Given the description of an element on the screen output the (x, y) to click on. 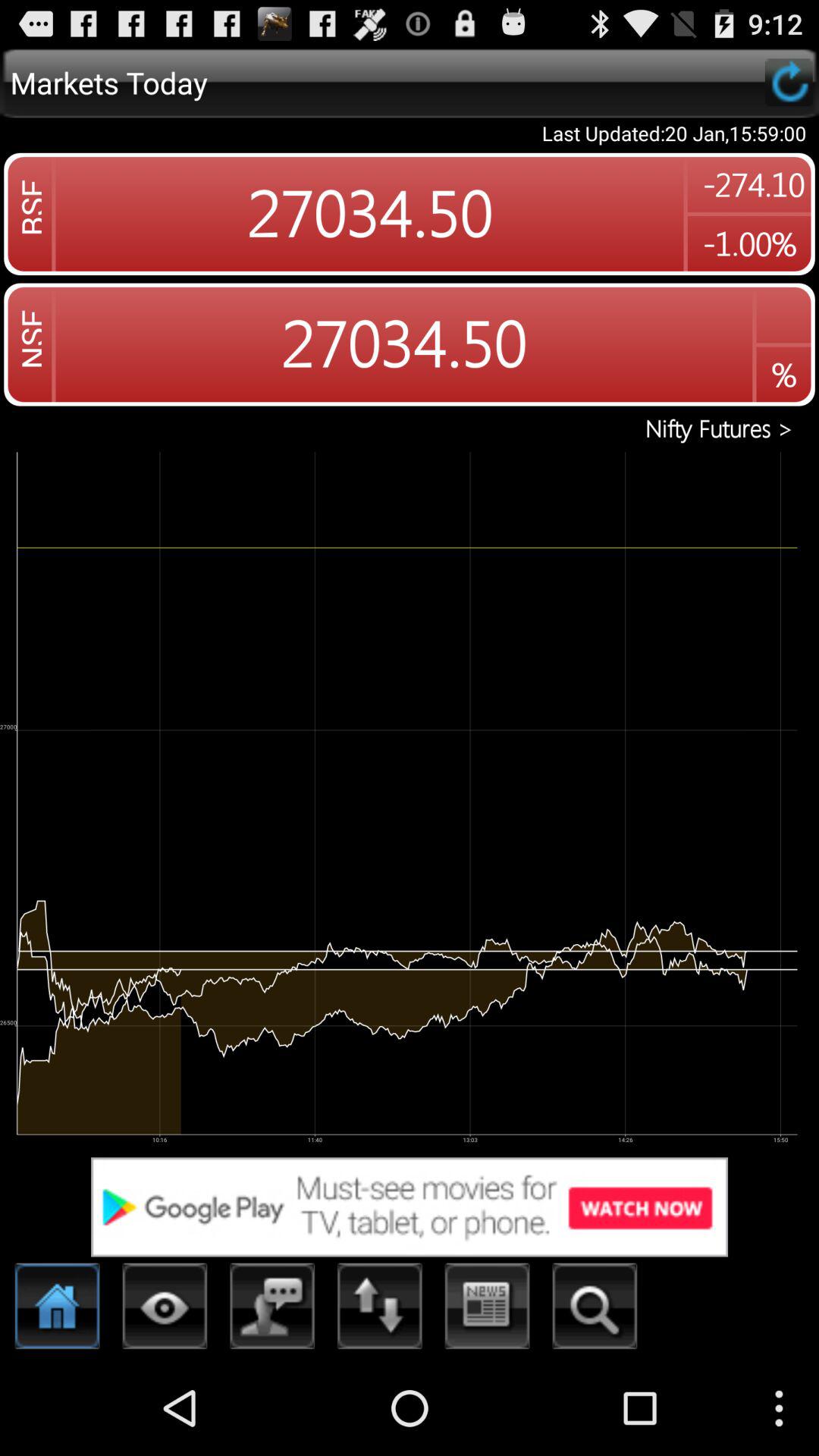
move up/down (379, 1310)
